Given the description of an element on the screen output the (x, y) to click on. 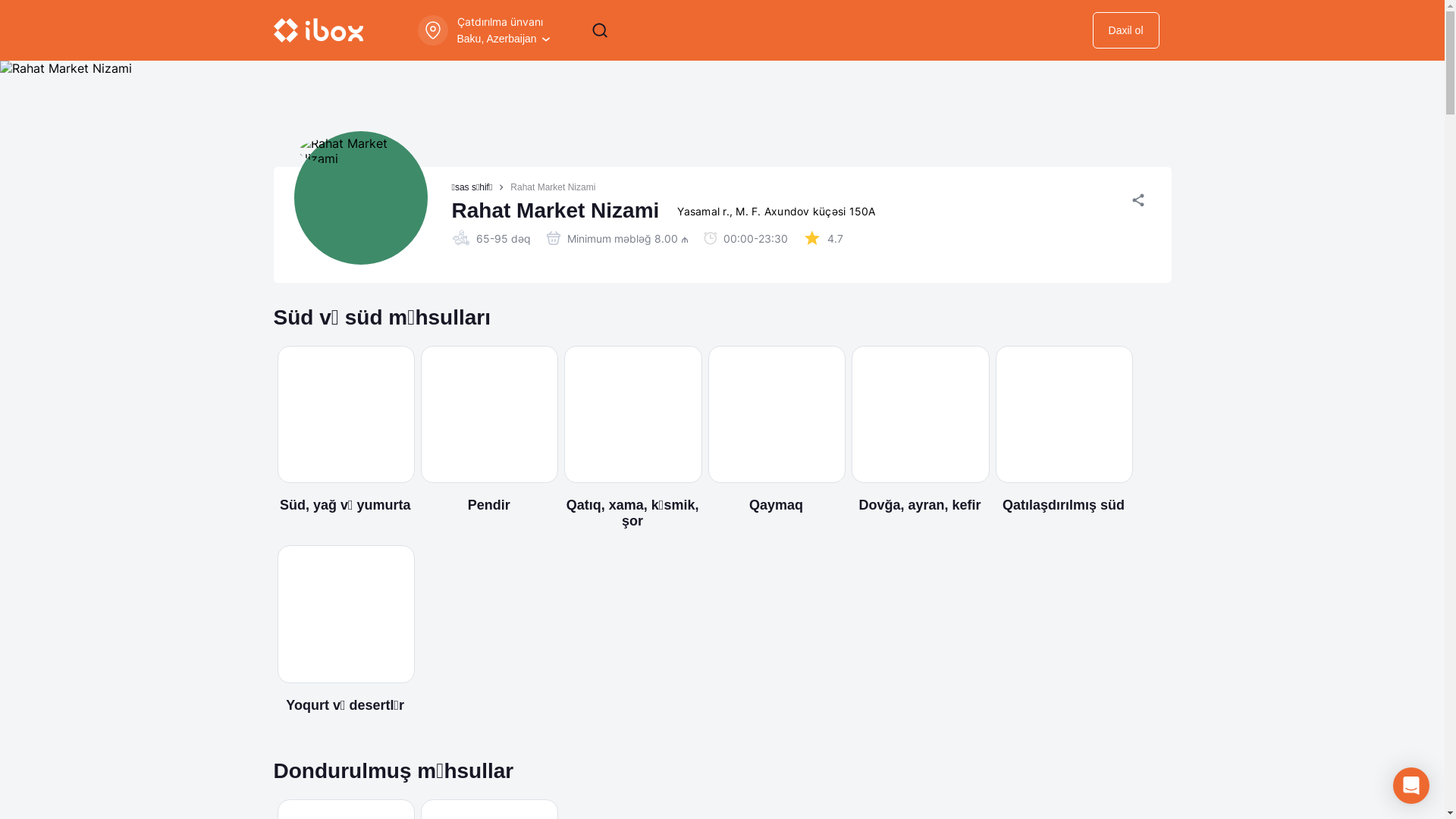
Rahat Market Nizami Element type: text (552, 187)
Daxil ol Element type: text (1125, 30)
